Given the description of an element on the screen output the (x, y) to click on. 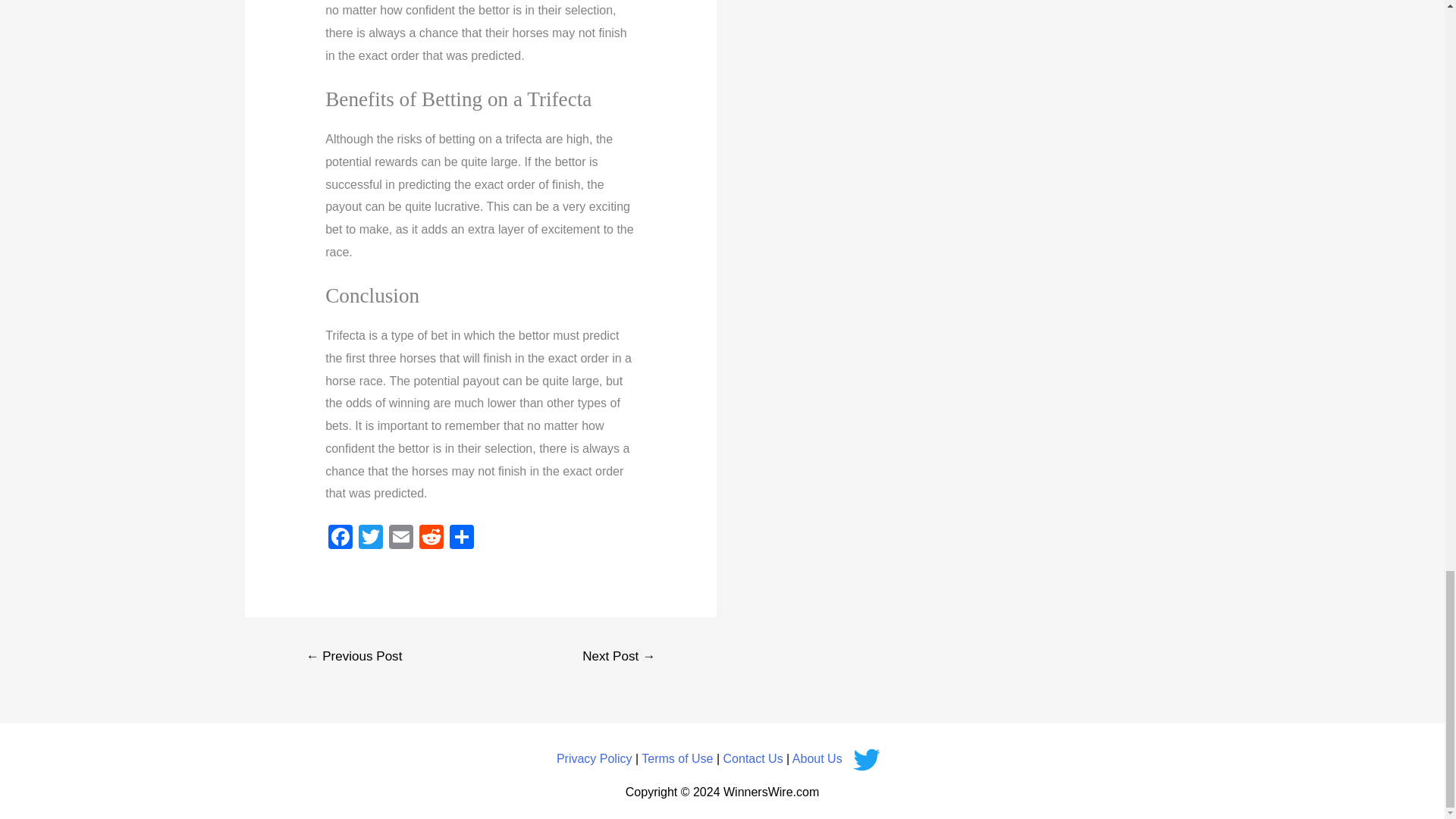
Twitter (370, 538)
Facebook (339, 538)
Email (400, 538)
Reddit (431, 538)
Share (461, 538)
Reddit (431, 538)
Facebook (339, 538)
Twitter (370, 538)
Email (400, 538)
